Given the description of an element on the screen output the (x, y) to click on. 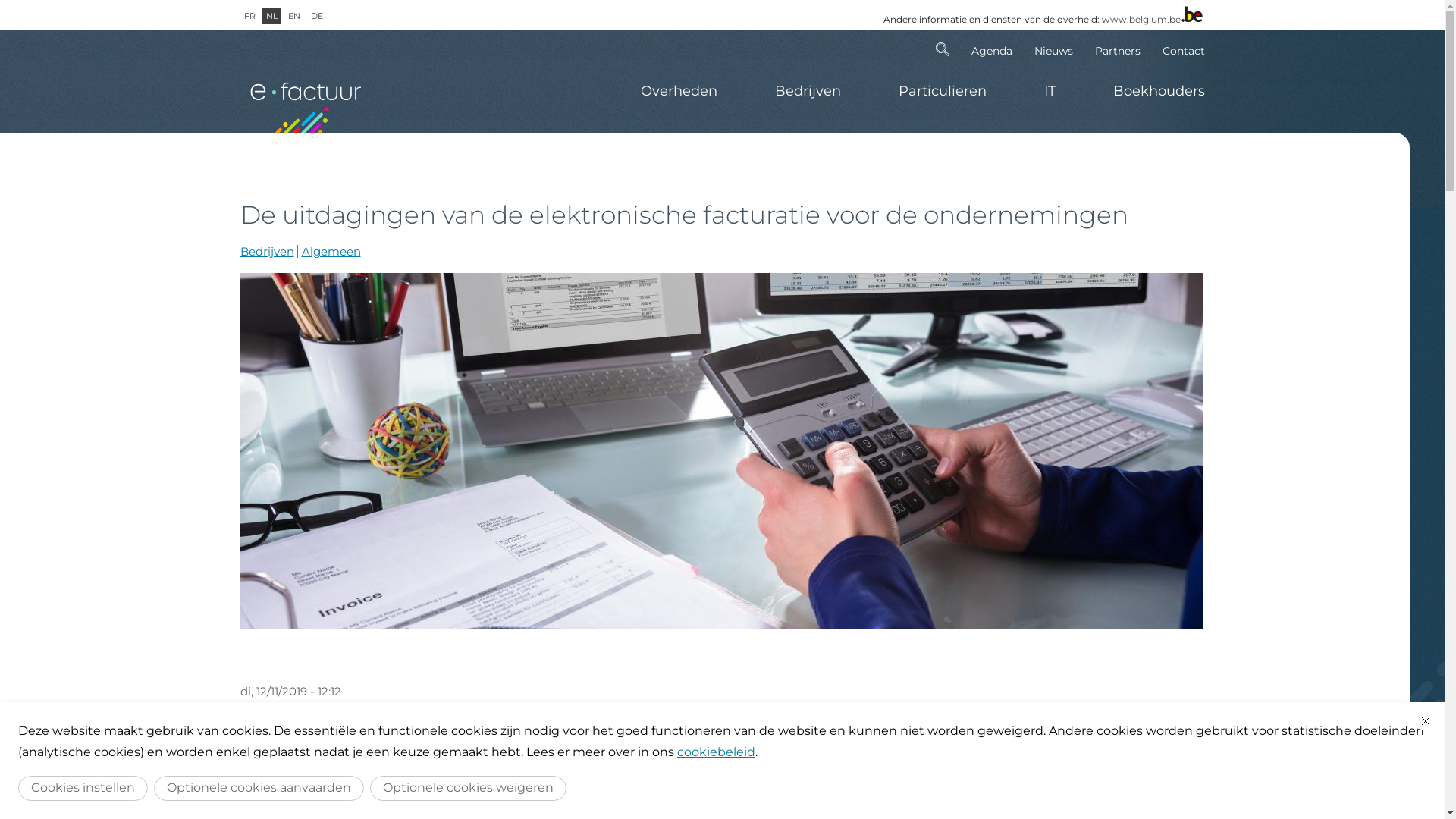
Boekhouders Element type: text (1144, 91)
Contact Element type: text (1178, 49)
Sluiten Element type: hover (1425, 721)
Optionele cookies aanvaarden Element type: text (258, 787)
Agenda Element type: text (991, 49)
Optionele cookies weigeren Element type: text (468, 787)
FR Element type: text (248, 15)
Bedrijven Element type: text (266, 251)
Partners Element type: text (1117, 49)
DE Element type: text (316, 15)
IT Element type: text (1049, 91)
Algemeen Element type: text (330, 251)
Zoeken Element type: text (942, 49)
Cookies instellen Element type: text (82, 787)
Particulieren Element type: text (941, 91)
Terug naar de startpagina Element type: hover (304, 100)
NL Element type: text (271, 15)
EN Element type: text (293, 15)
Ga naar de hoofdinhoud Element type: text (0, 0)
www.belgium.be Element type: text (1140, 19)
Nieuws Element type: text (1053, 49)
cookiebeleid Element type: text (716, 751)
Bedrijven Element type: text (807, 91)
Overheden Element type: text (677, 91)
